Given the description of an element on the screen output the (x, y) to click on. 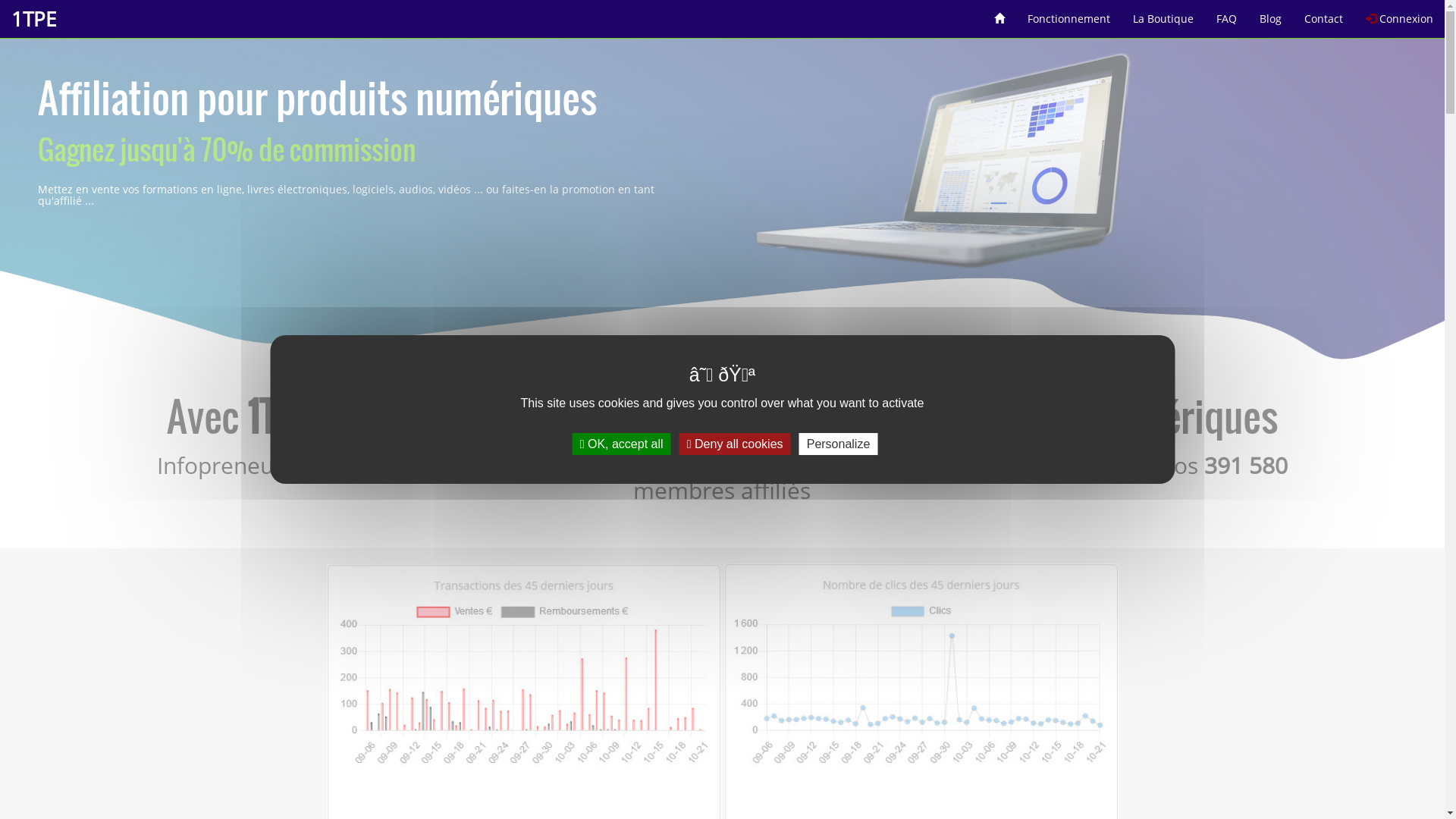
Personalize Element type: text (838, 444)
Fonctionnement Element type: text (1068, 13)
Blog Element type: text (1270, 13)
Contact Element type: text (1323, 13)
FAQ Element type: text (1226, 13)
1TPE Element type: text (33, 18)
Connexion Element type: text (1399, 13)
OK, accept all Element type: text (621, 444)
Deny all cookies Element type: text (734, 444)
La Boutique Element type: text (1162, 13)
